Given the description of an element on the screen output the (x, y) to click on. 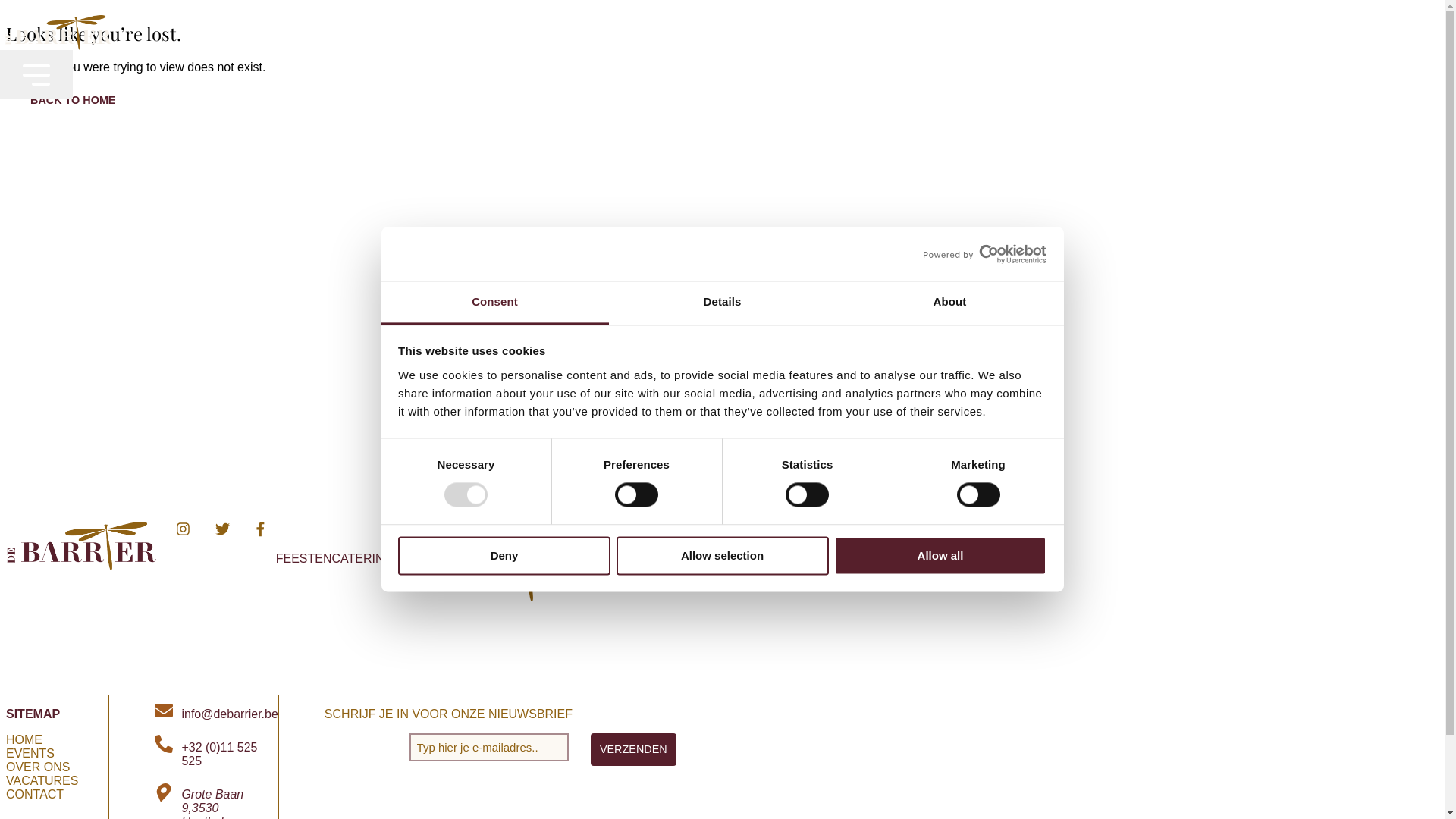
HOME Element type: text (24, 739)
HOTEL Element type: text (674, 558)
CONTACT Element type: text (34, 793)
Allow all Element type: text (940, 555)
BUSINESS Element type: text (424, 558)
OVER ONS Element type: text (37, 766)
CATERING Element type: text (361, 558)
VACATURES Element type: text (42, 780)
Consent Element type: text (494, 302)
BACK TO HOME Element type: text (72, 100)
About Element type: text (949, 302)
EVENTS Element type: text (718, 558)
Details Element type: text (721, 302)
FEESTEN Element type: text (304, 558)
info@debarrier.be Element type: text (215, 714)
+32 (0)11 525 525 Element type: text (215, 754)
Deny Element type: text (504, 555)
EVENTS Element type: text (30, 752)
Allow selection Element type: text (721, 555)
Verzenden Element type: text (633, 749)
